Given the description of an element on the screen output the (x, y) to click on. 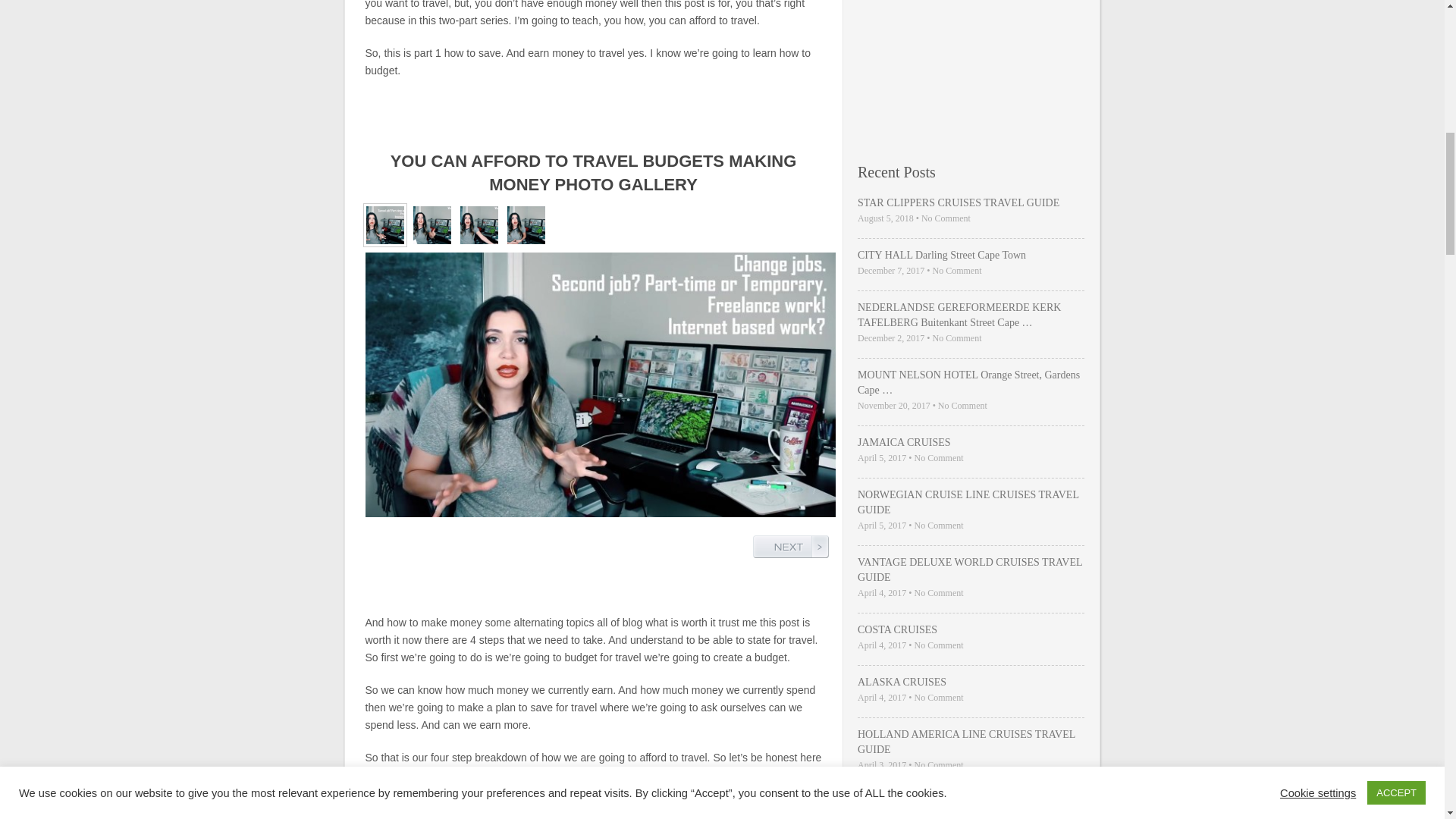
Advertisement (970, 67)
facts (614, 792)
you can afford to travel budgets making money 57 (430, 225)
you can afford to travel budgets making money 58 (478, 225)
you can afford to travel budgets making money 56 (384, 225)
you can afford to travel budgets making money 66 (525, 225)
